Given the description of an element on the screen output the (x, y) to click on. 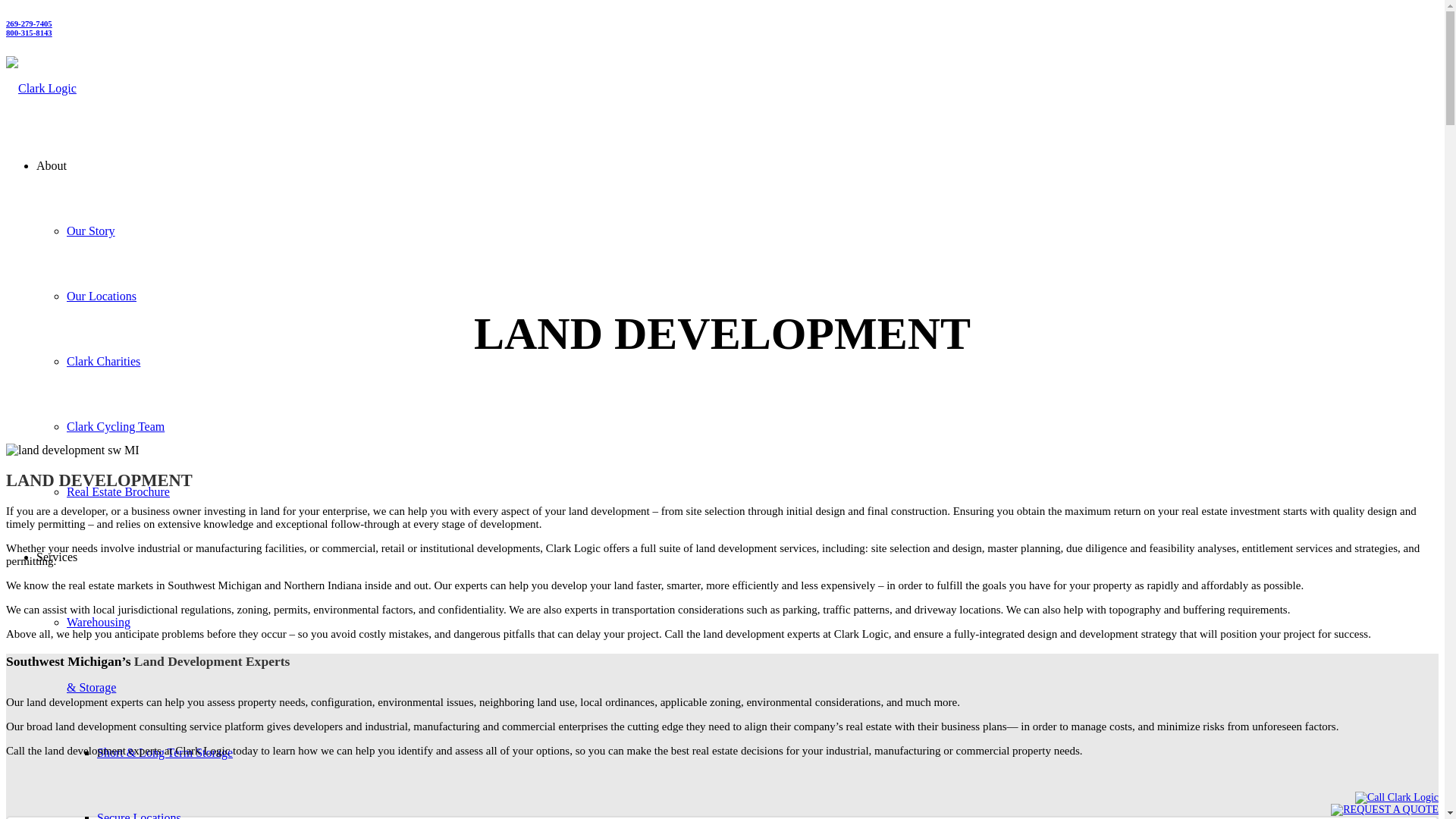
About (51, 164)
269-279-7405 (28, 22)
Real Estate Brochure (118, 491)
Our Story (90, 230)
Our Locations (101, 295)
800-315-8143 (28, 31)
Clark Cycling Team (115, 426)
Secure Locations (138, 815)
land development sw MI (72, 450)
Clark Charities (102, 360)
Services (56, 556)
